Given the description of an element on the screen output the (x, y) to click on. 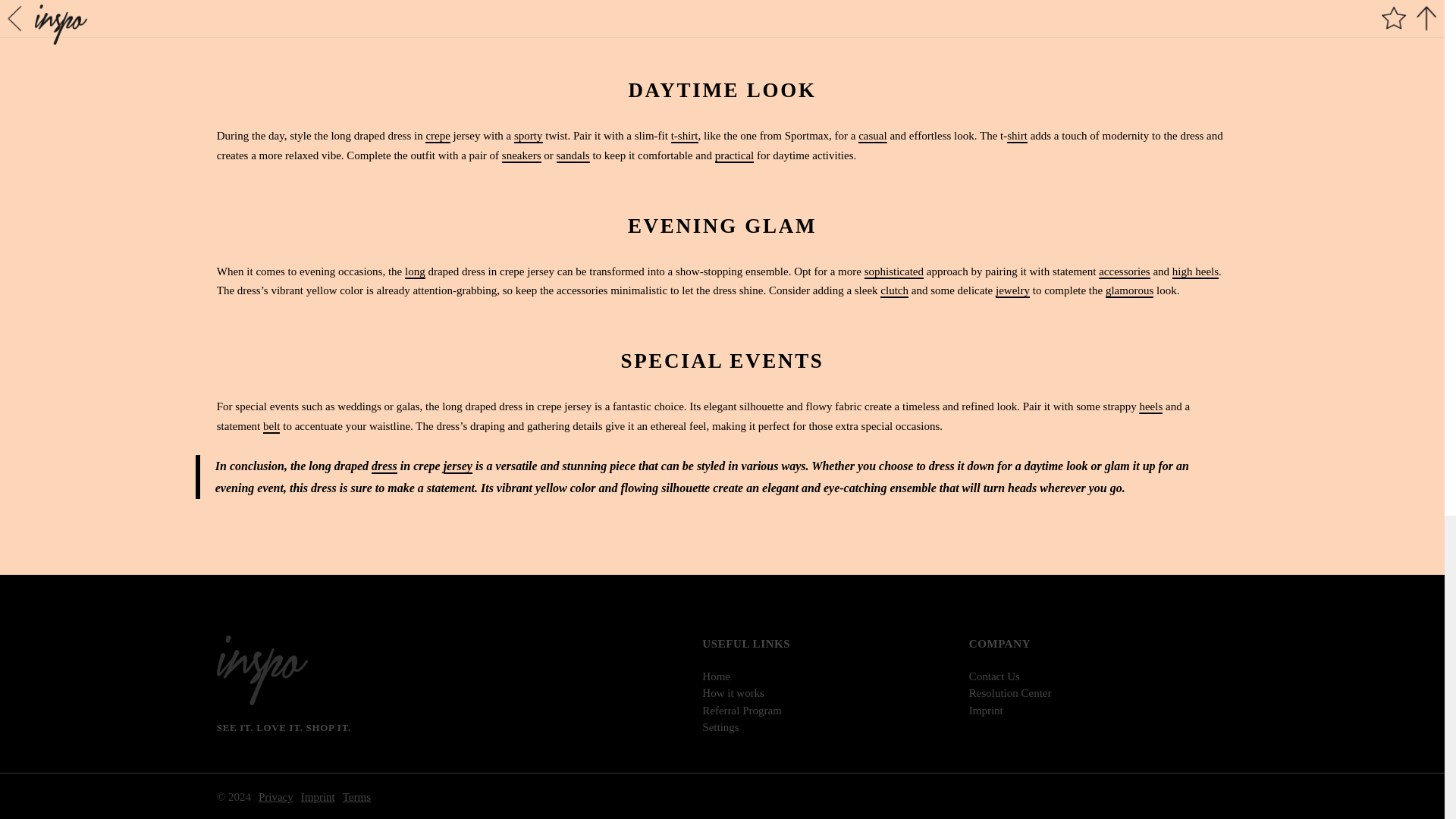
f (585, 64)
t-shirt (684, 136)
p (645, 64)
 copy (881, 64)
Saint Laurent (1067, 4)
Share on Whatsapp (762, 64)
yellow (593, 20)
sporty (528, 136)
Send via Email (821, 64)
c (881, 64)
